Given the description of an element on the screen output the (x, y) to click on. 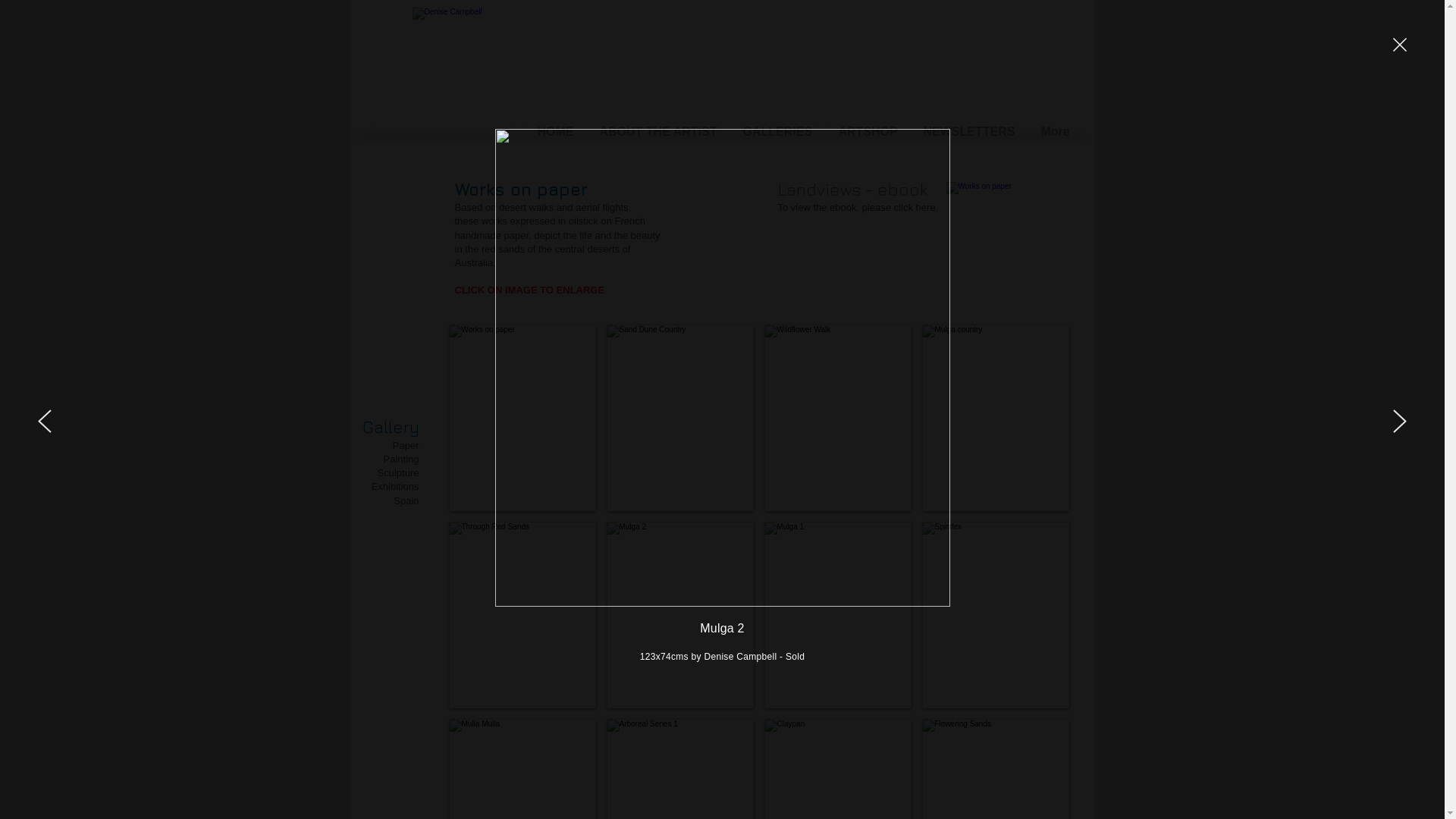
M.jpeg Element type: hover (999, 221)
Sculpture Element type: text (398, 472)
Spain Element type: text (405, 500)
ARTSHOP Element type: text (868, 128)
here Element type: text (925, 207)
Exhibitions Element type: text (395, 486)
GALLERIES Element type: text (778, 128)
HOME Element type: text (557, 128)
Gallery Element type: text (390, 426)
Painting Element type: text (401, 458)
ABOUT THE ARTIST Element type: text (659, 128)
NEWSLETTERS Element type: text (970, 128)
website_logo_transparent_background.png Element type: hover (602, 65)
Paper Element type: text (405, 445)
